Given the description of an element on the screen output the (x, y) to click on. 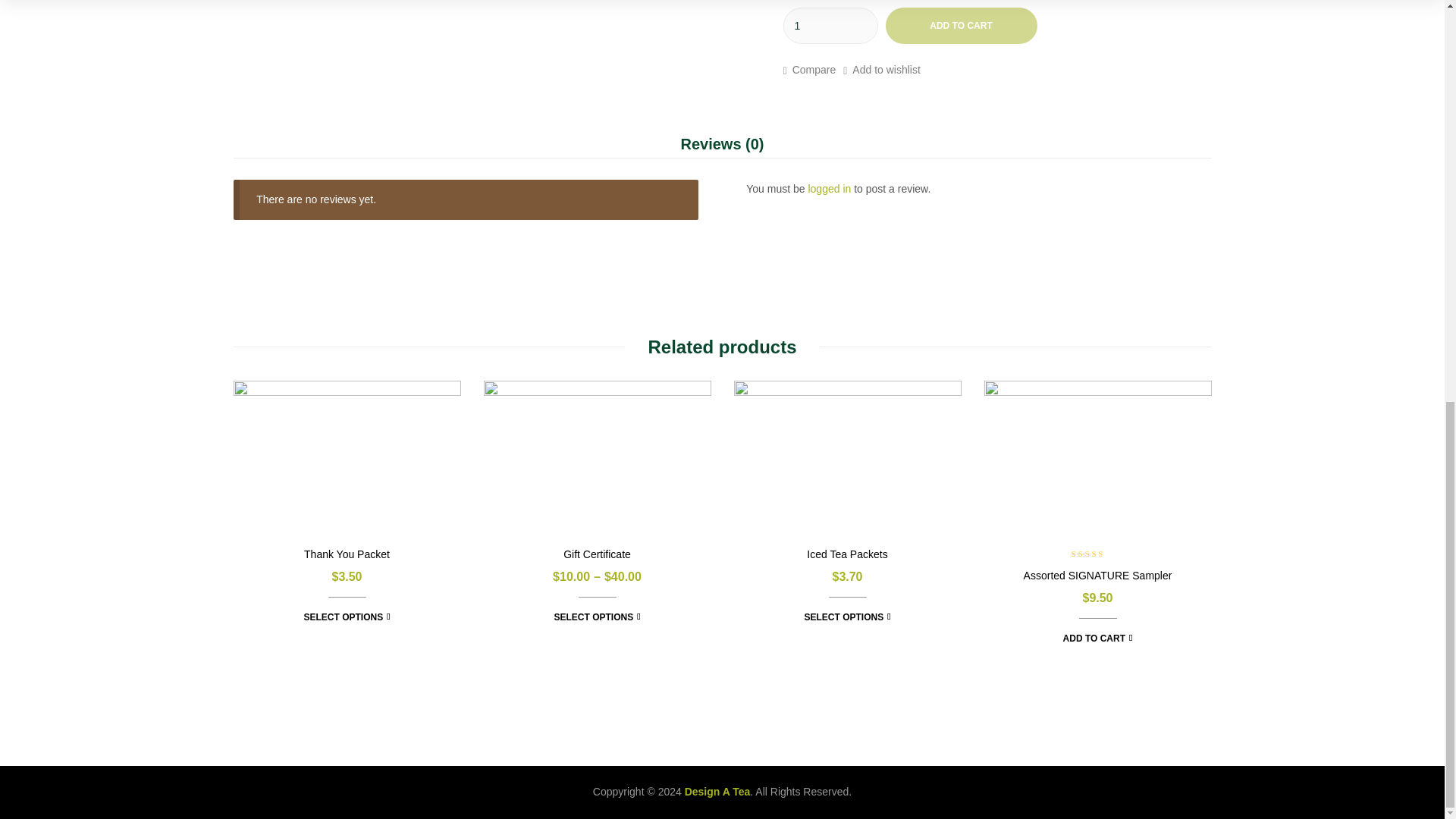
1 (830, 25)
